Given the description of an element on the screen output the (x, y) to click on. 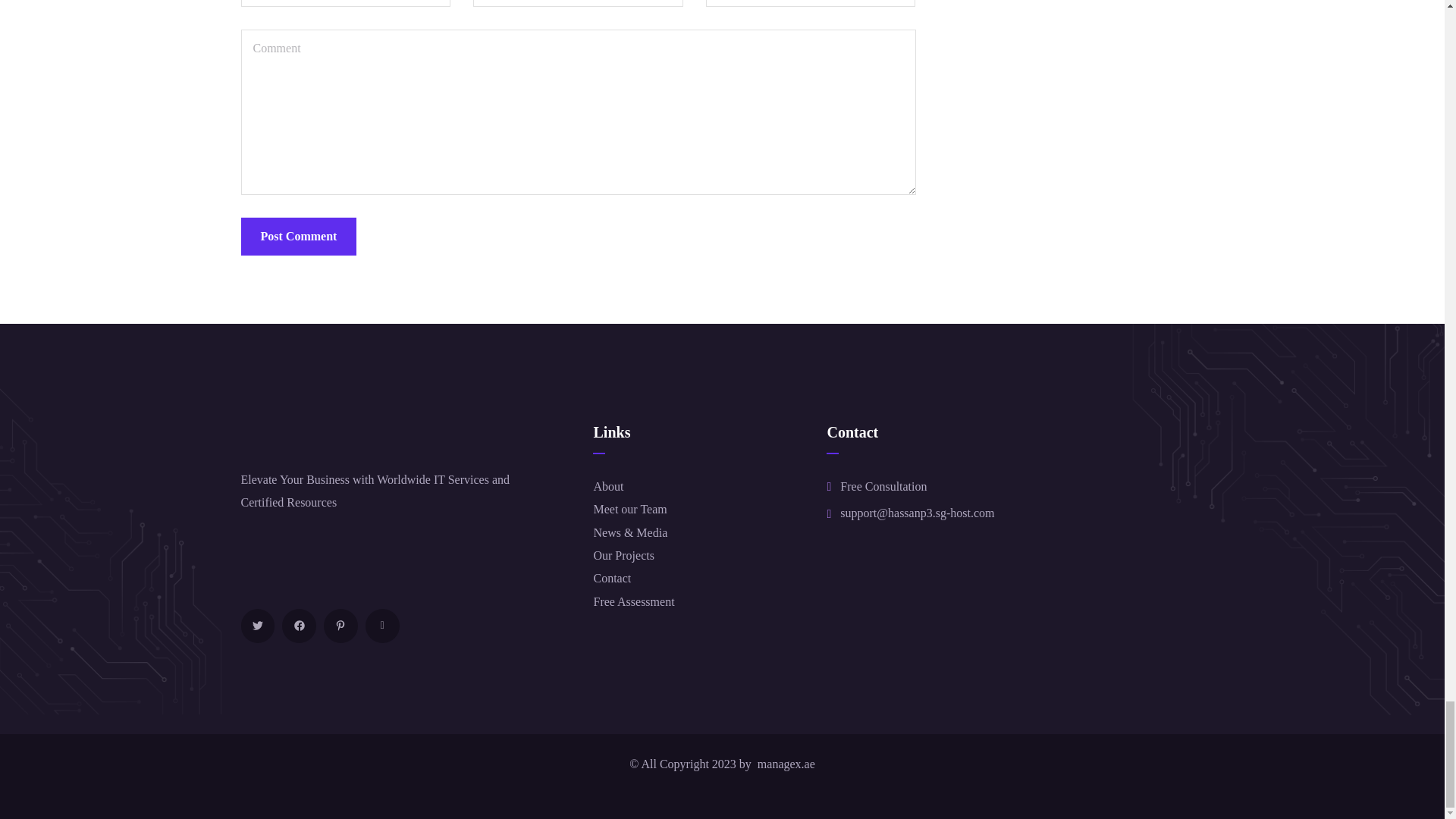
Free Consultation (883, 486)
Post Comment (298, 236)
address (917, 513)
Post Comment (298, 236)
